Given the description of an element on the screen output the (x, y) to click on. 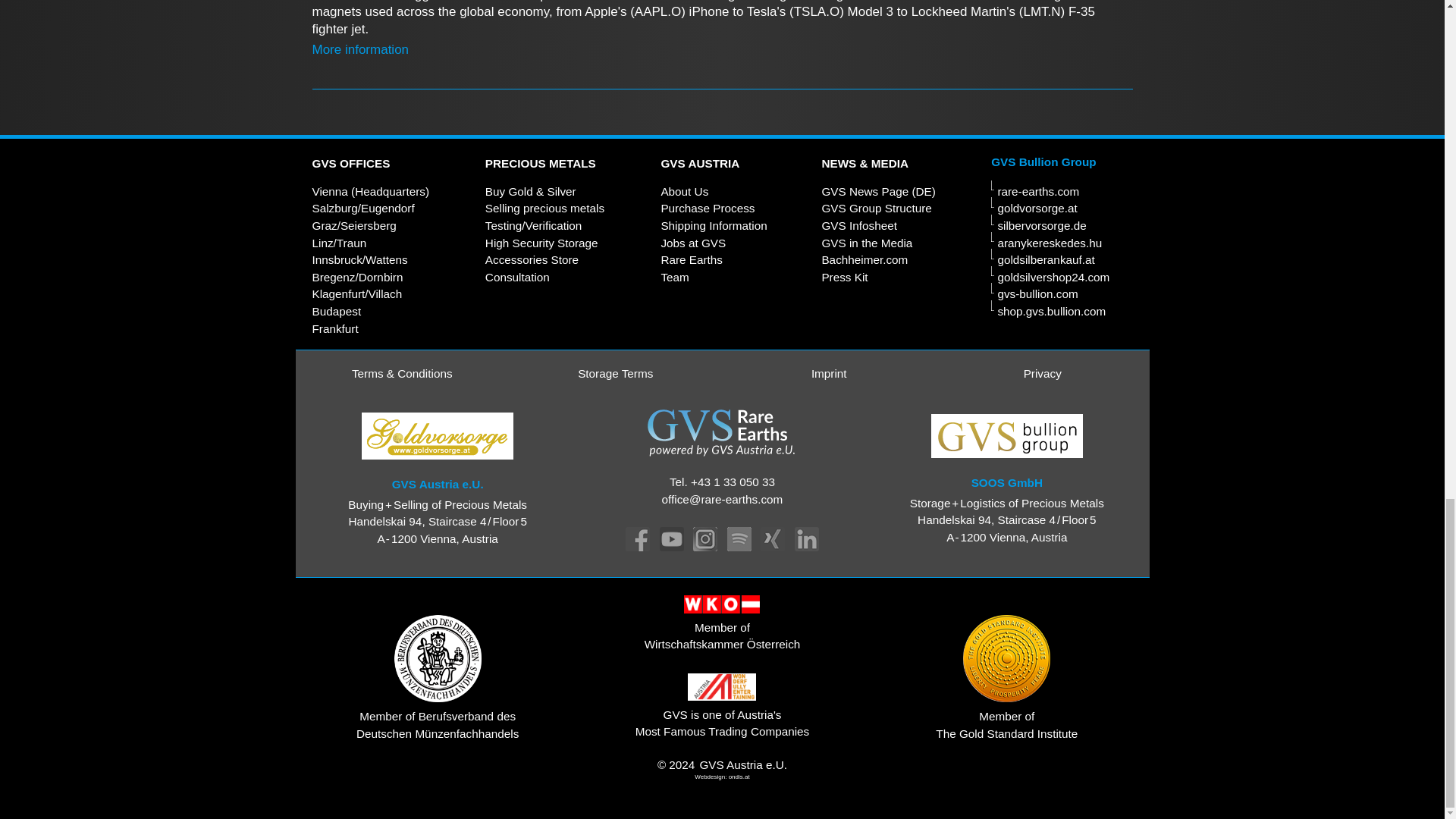
Shipping Information (714, 225)
Budapest (337, 310)
About Us (684, 191)
Selling precious metals (544, 207)
Purchase Process (707, 207)
Frankfurt (335, 328)
Consultation (517, 277)
More information (361, 49)
High Security Storage (541, 242)
Accessories Store (531, 259)
Jobs at GVS (693, 242)
